Given the description of an element on the screen output the (x, y) to click on. 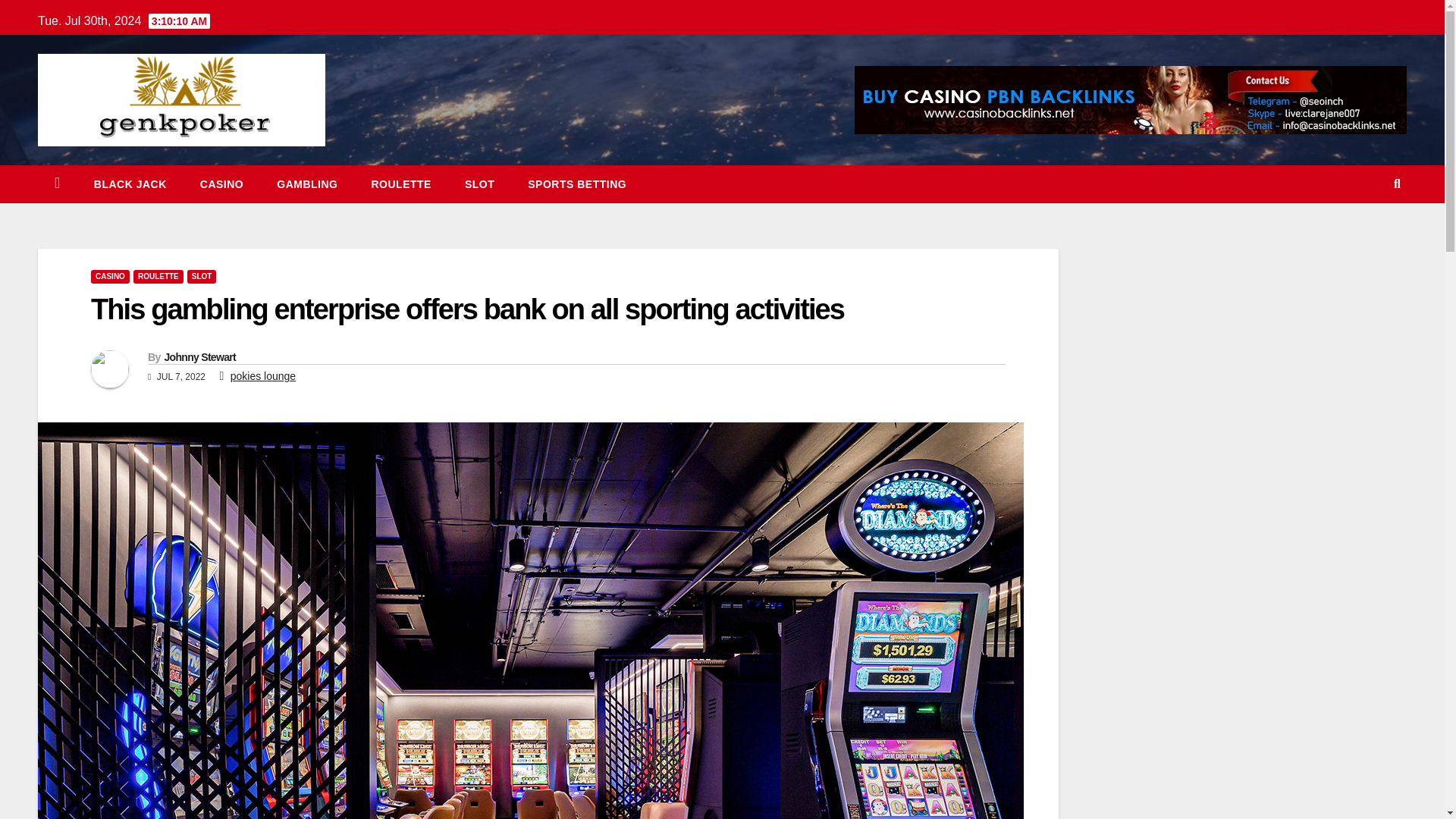
SLOT (479, 184)
BLACK JACK (130, 184)
ROULETTE (399, 184)
BLACK JACK (130, 184)
Johnny Stewart (198, 357)
CASINO (109, 276)
GAMBLING (306, 184)
SPORTS BETTING (577, 184)
SLOT (201, 276)
pokies lounge (262, 376)
GAMBLING (306, 184)
SPORTS BETTING (577, 184)
ROULETTE (158, 276)
SLOT (479, 184)
CASINO (221, 184)
